Given the description of an element on the screen output the (x, y) to click on. 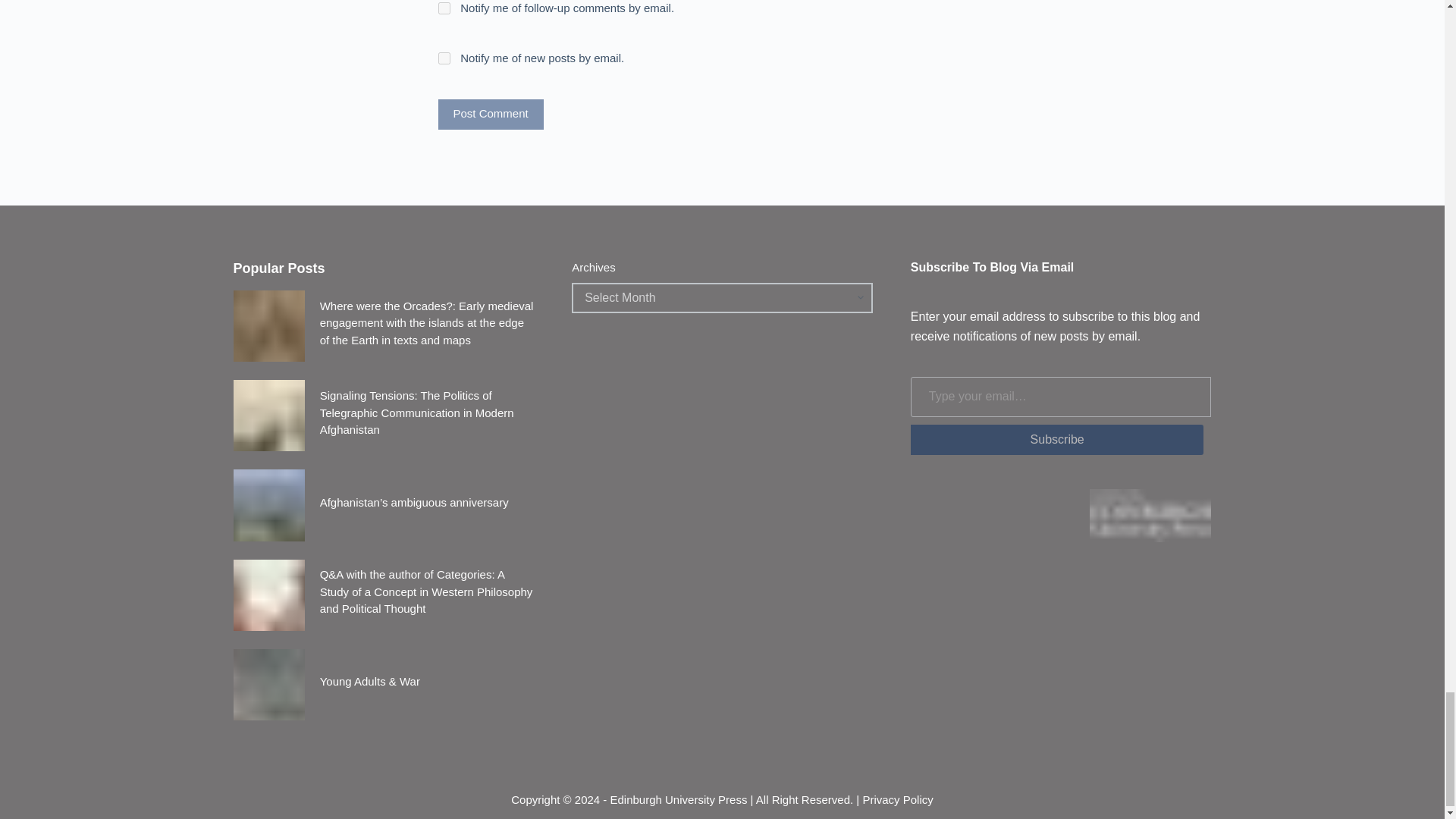
subscribe (443, 8)
Please fill in this field. (1061, 396)
subscribe (443, 58)
